Given the description of an element on the screen output the (x, y) to click on. 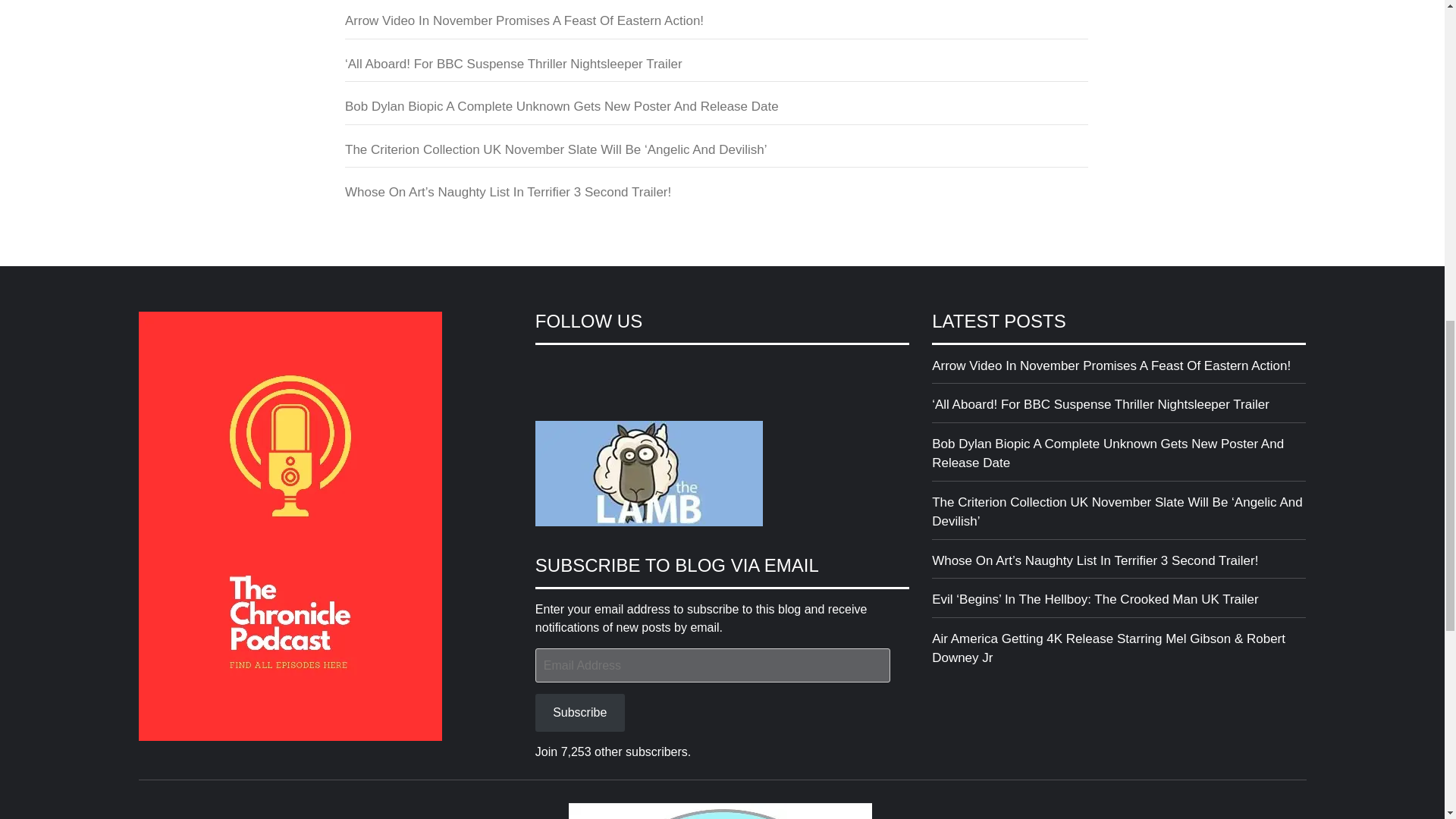
Arrow Video In November Promises A Feast Of Eastern Action! (716, 25)
Facebook (547, 368)
Instagram (602, 368)
Pinterest (657, 368)
Subscribe (579, 712)
YouTube (629, 368)
Arrow Video In November Promises A Feast Of Eastern Action! (1118, 370)
X (574, 368)
